Given the description of an element on the screen output the (x, y) to click on. 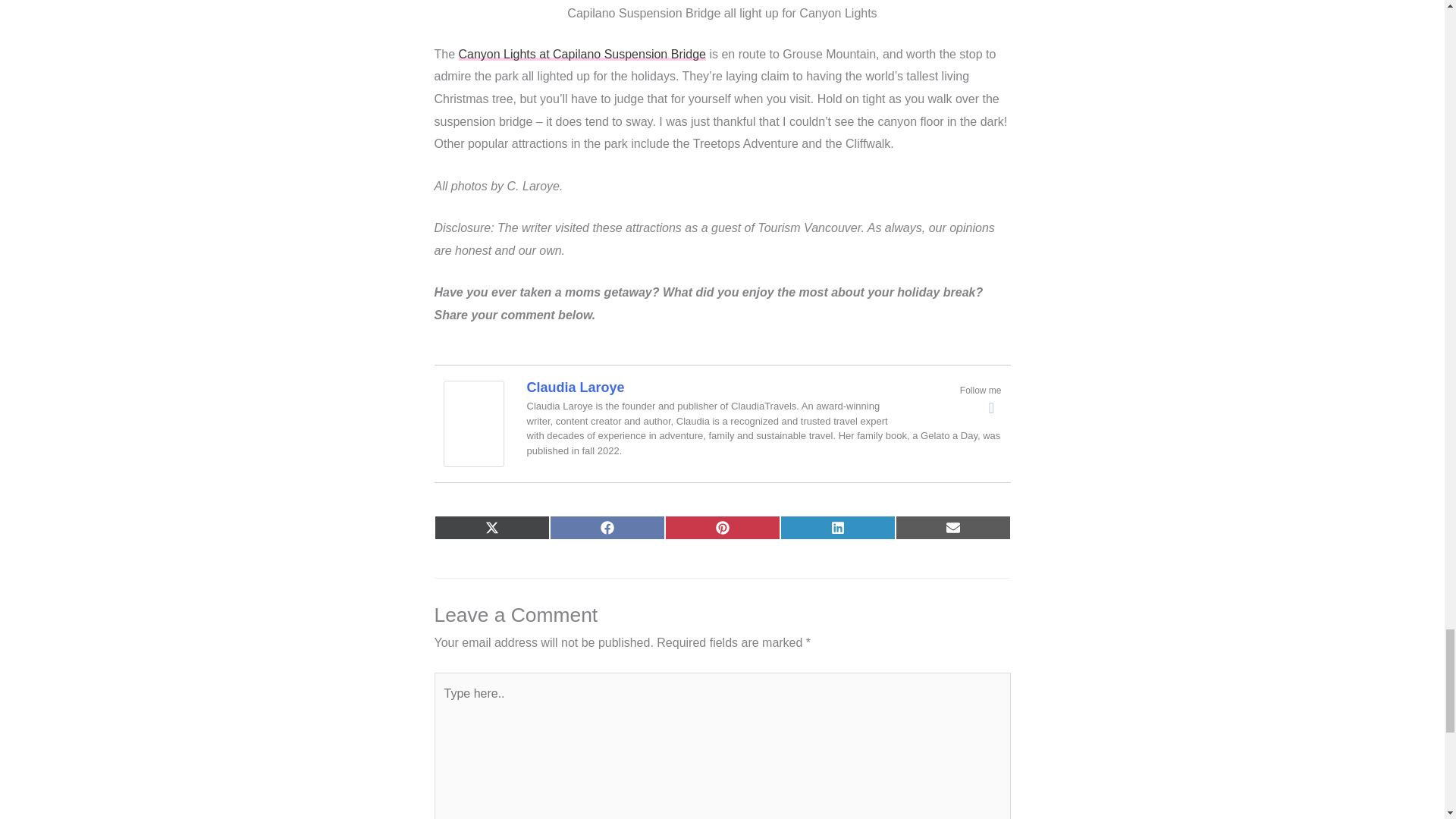
Claudia Laroye (472, 422)
Facebook (991, 407)
